Given the description of an element on the screen output the (x, y) to click on. 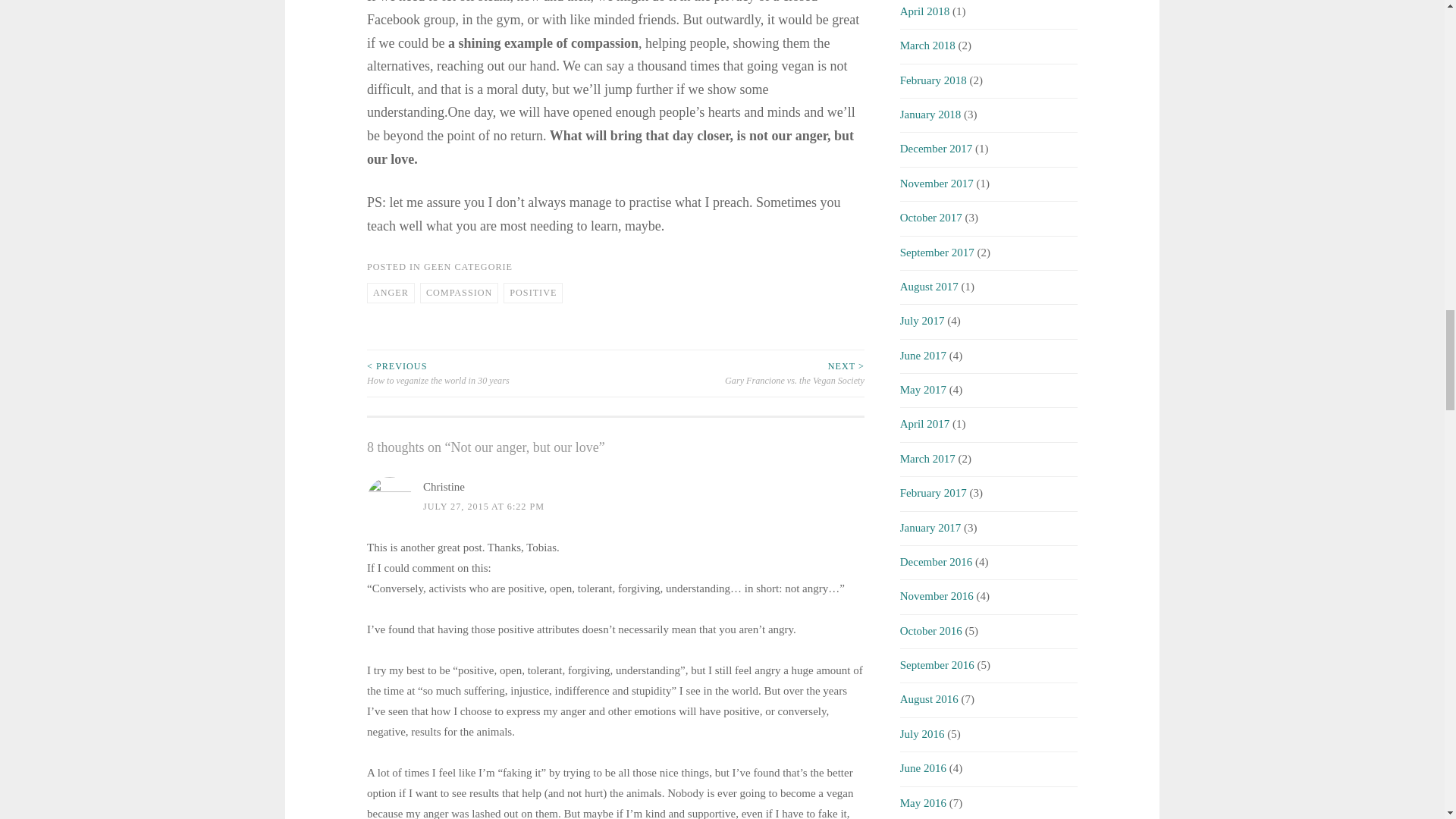
JULY 27, 2015 AT 6:22 PM (483, 506)
COMPASSION (458, 292)
ANGER (390, 292)
GEEN CATEGORIE (467, 266)
POSITIVE (532, 292)
